Given the description of an element on the screen output the (x, y) to click on. 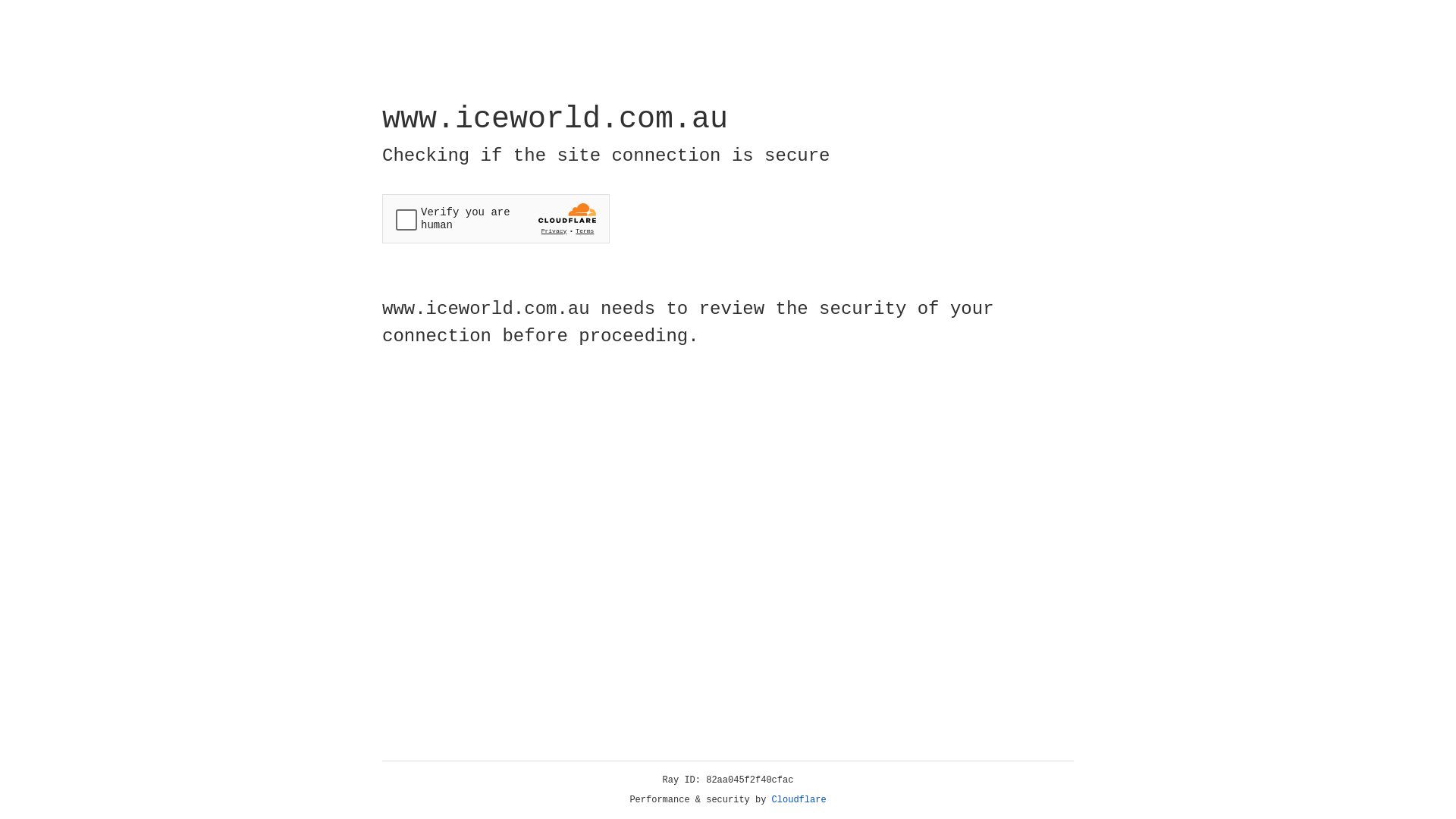
Cloudflare Element type: text (798, 799)
Widget containing a Cloudflare security challenge Element type: hover (495, 218)
